Given the description of an element on the screen output the (x, y) to click on. 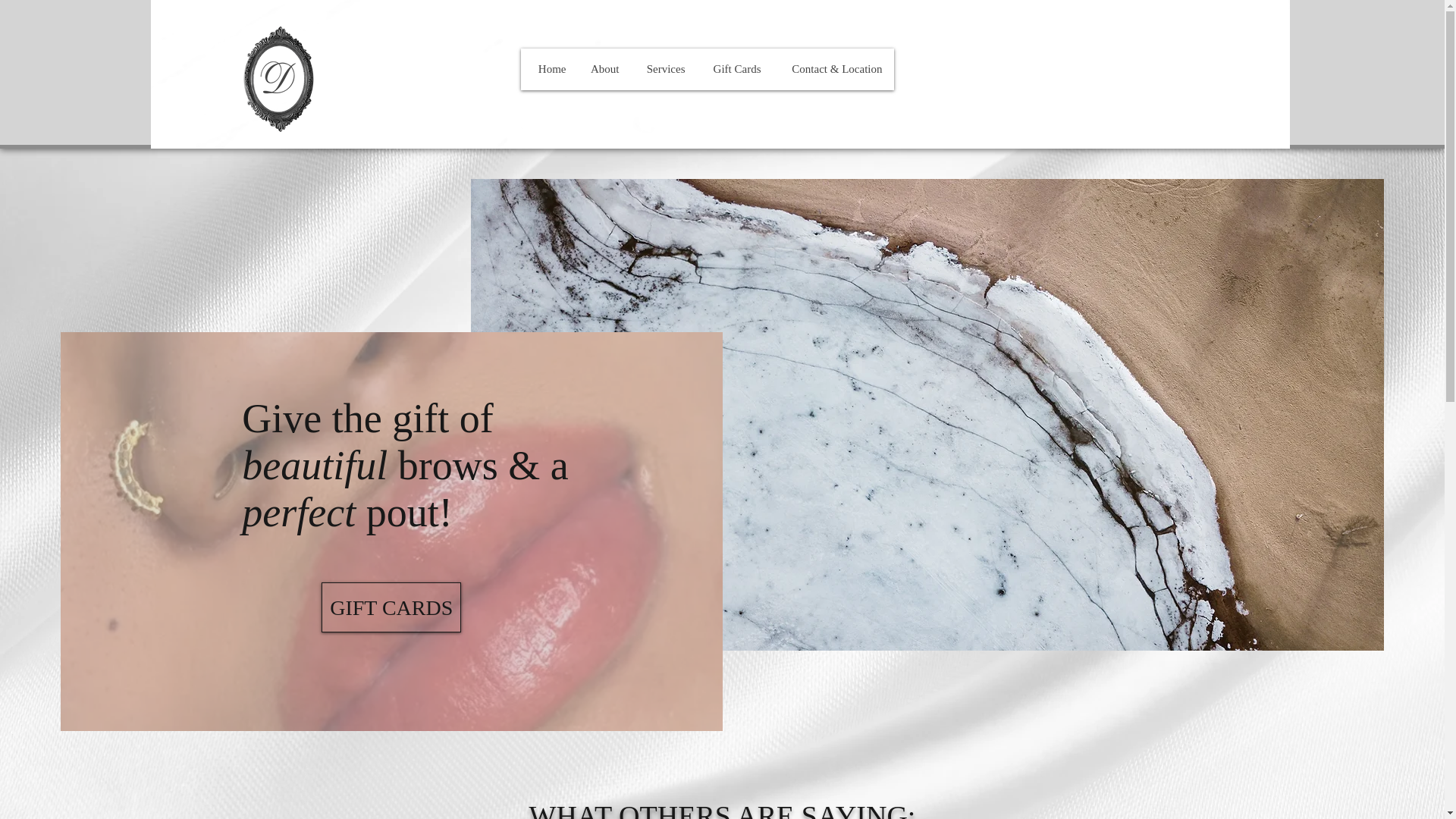
Gift Cards (733, 69)
Home (549, 69)
GIFT CARDS (391, 607)
About (604, 69)
Services (663, 69)
